Given the description of an element on the screen output the (x, y) to click on. 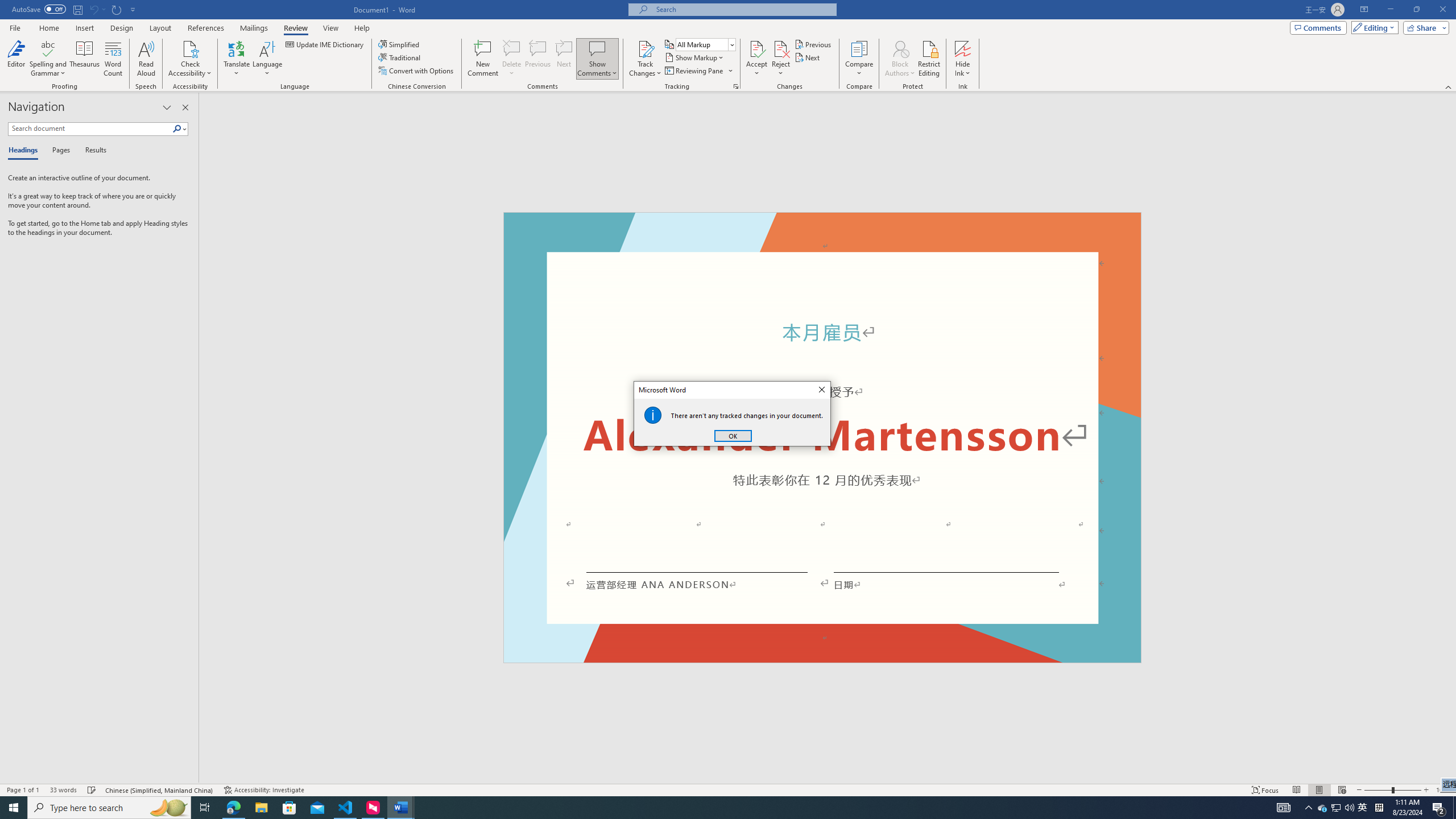
Track Changes (644, 48)
Header -Section 1- (822, 225)
Translate (236, 58)
Footer -Section 1- (822, 657)
Spelling and Grammar (48, 48)
Language Chinese (Simplified, Mainland China) (159, 790)
Reviewing Pane (698, 69)
Reject (780, 58)
Q2790: 100% (1349, 807)
Accessibility Checker Accessibility: Investigate (263, 790)
